Given the description of an element on the screen output the (x, y) to click on. 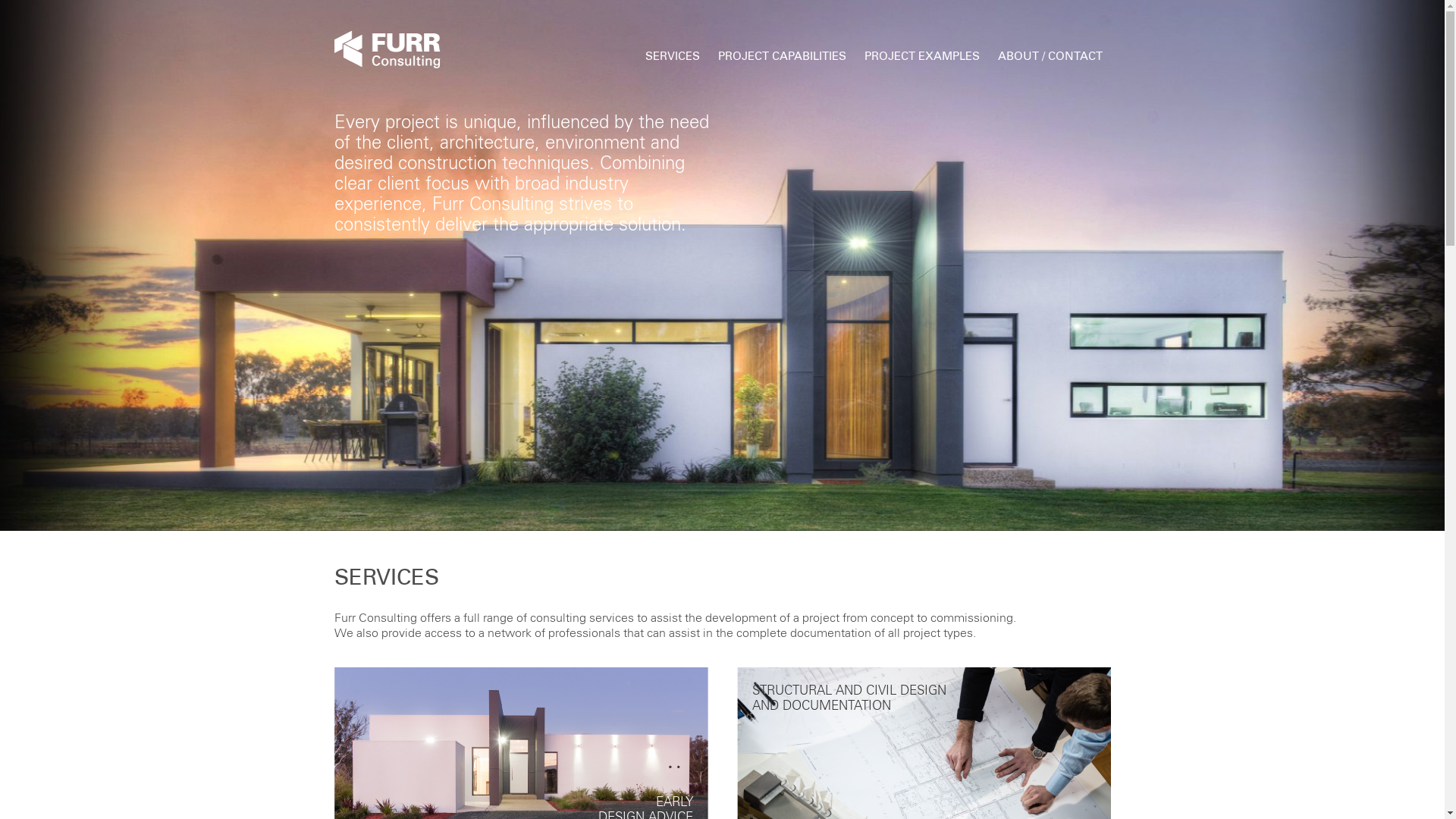
SERVICES Element type: text (672, 55)
ABOUT / CONTACT Element type: text (1050, 55)
PROJECT EXAMPLES Element type: text (921, 55)
PROJECT CAPABILITIES Element type: text (781, 55)
